Given the description of an element on the screen output the (x, y) to click on. 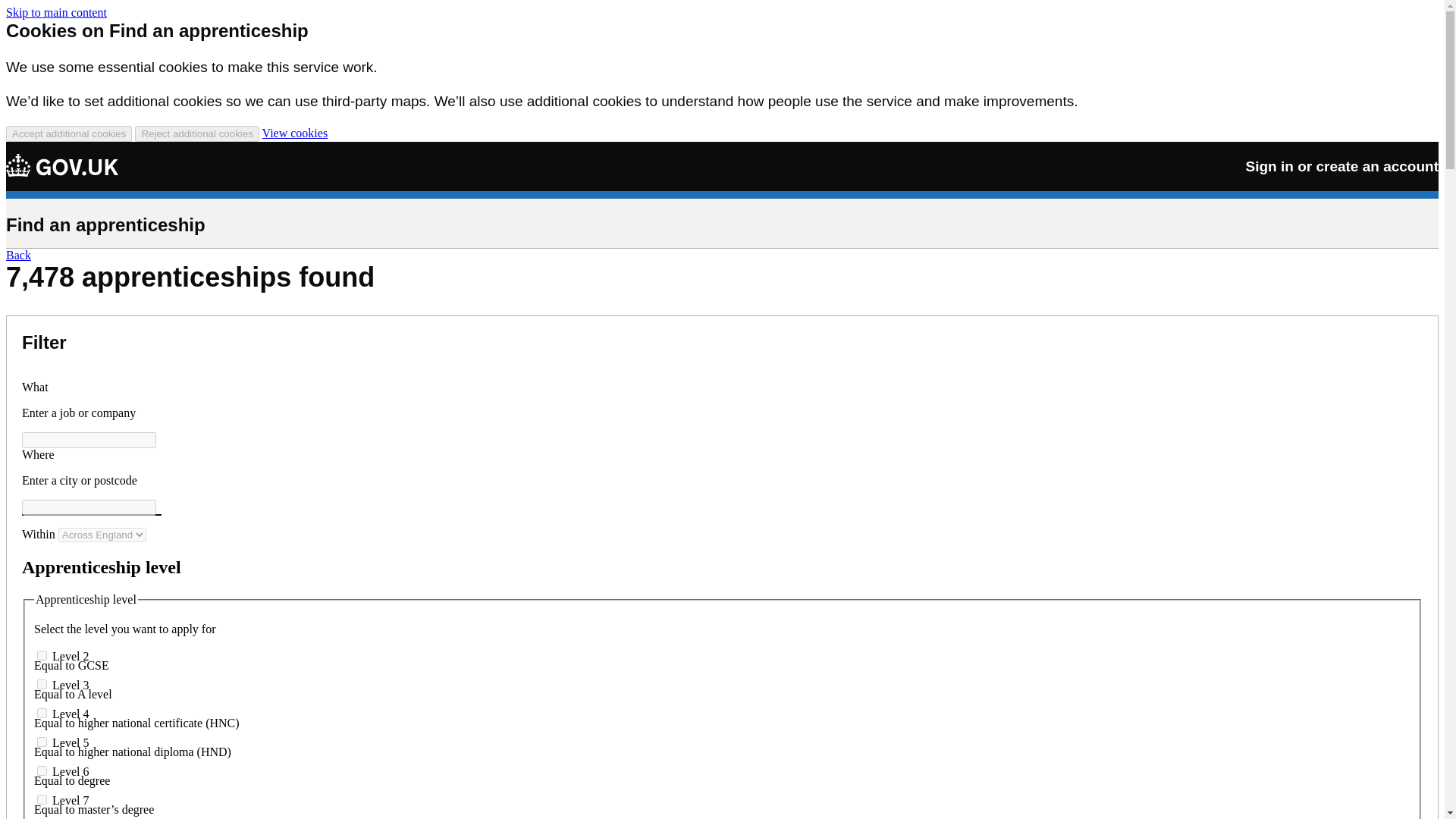
3 (41, 684)
2 (41, 655)
View cookies (295, 132)
4 (41, 713)
GOV.UK (62, 165)
Reject additional cookies (197, 133)
5 (41, 741)
6 (41, 770)
Accept additional cookies (68, 133)
Skip to main content (55, 11)
GOV.UK (61, 164)
Back (17, 254)
7 (41, 799)
